Given the description of an element on the screen output the (x, y) to click on. 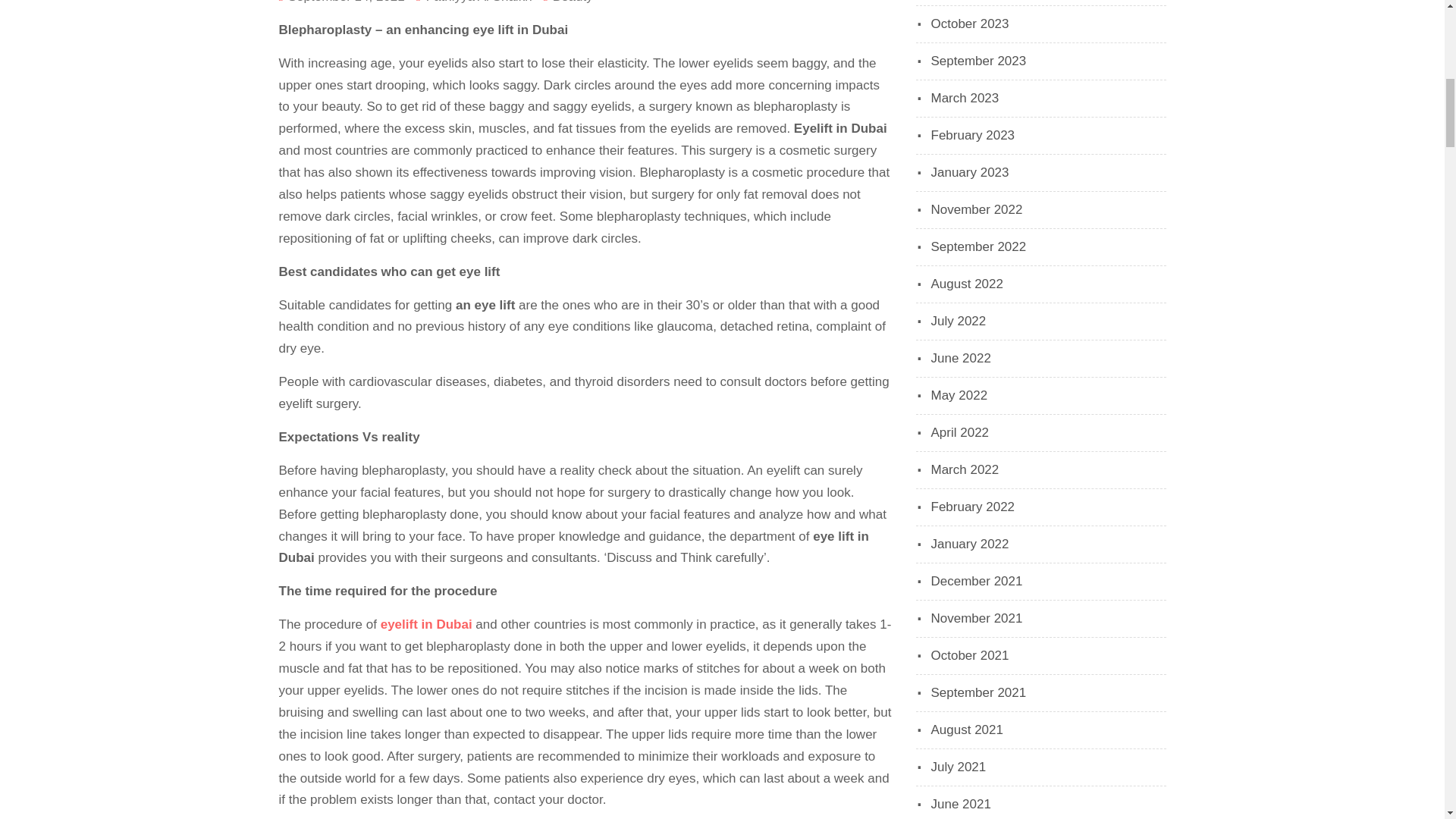
May 2022 (959, 395)
February 2022 (972, 506)
Fathiyya Al Shaikh (479, 2)
January 2023 (970, 172)
March 2023 (964, 97)
July 2022 (959, 320)
August 2022 (967, 283)
June 2022 (961, 358)
March 2022 (964, 469)
September 14, 2021 (346, 2)
